Given the description of an element on the screen output the (x, y) to click on. 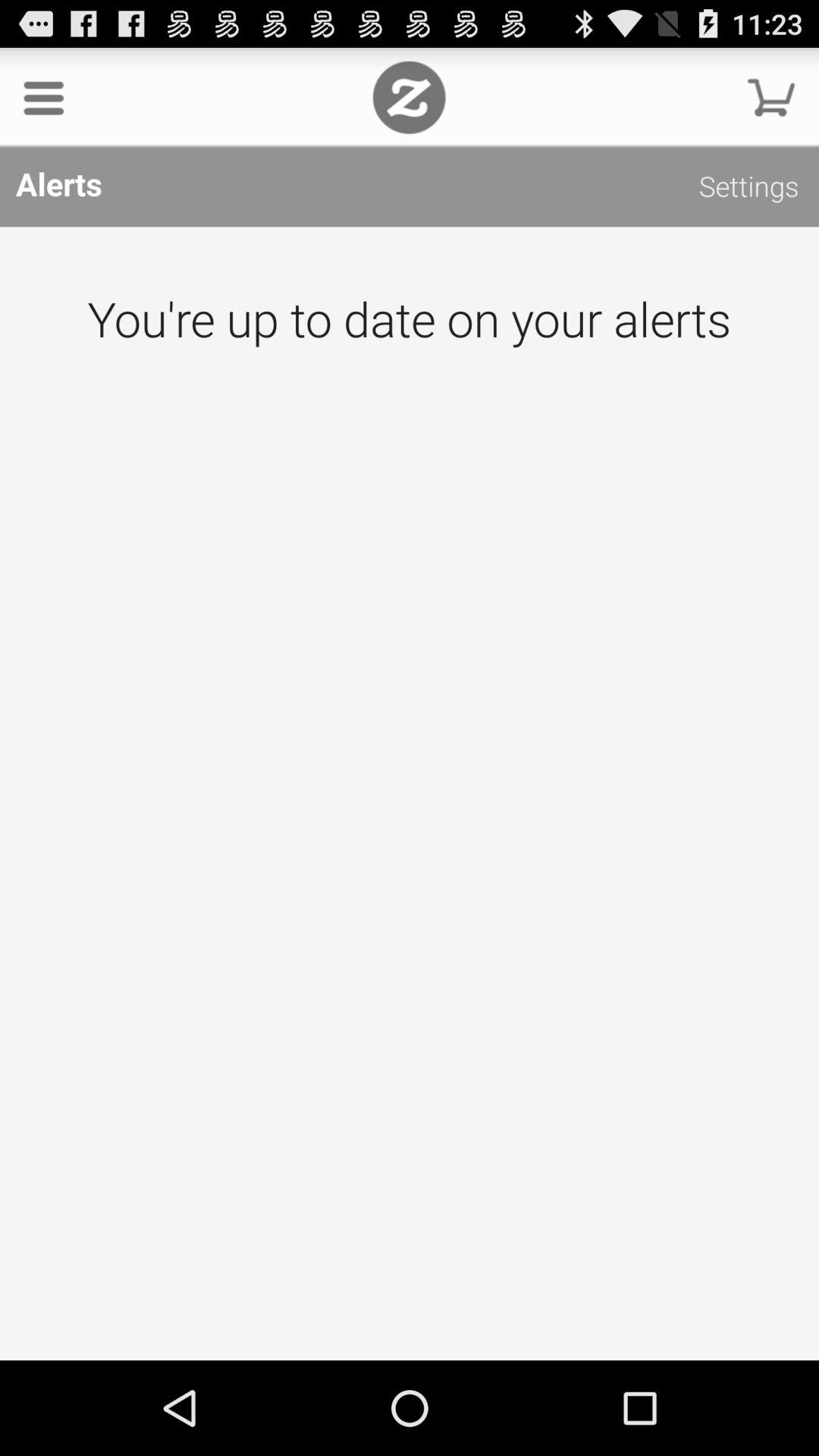
press the icon to the left of the settings icon (408, 97)
